Given the description of an element on the screen output the (x, y) to click on. 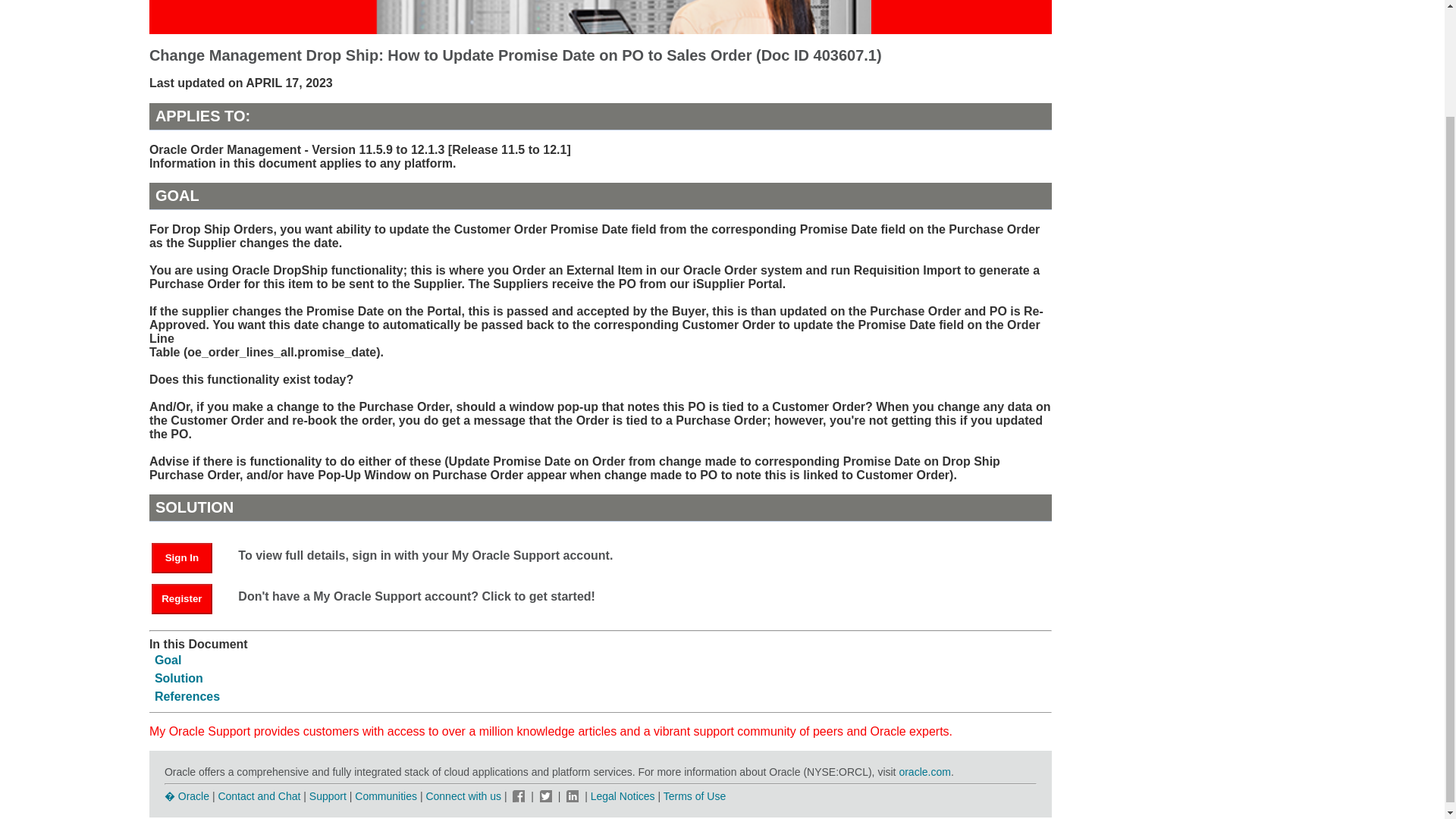
Contact and Chat (257, 796)
Connect with us (464, 796)
Sign In (181, 557)
oracle.com (924, 771)
Communities (385, 796)
Register (181, 598)
Sign In (189, 556)
Support (327, 796)
Solution (178, 677)
Legal Notices (623, 796)
oracle.com (924, 771)
Goal (168, 659)
References (186, 696)
Terms of Use (694, 796)
Register (189, 597)
